Given the description of an element on the screen output the (x, y) to click on. 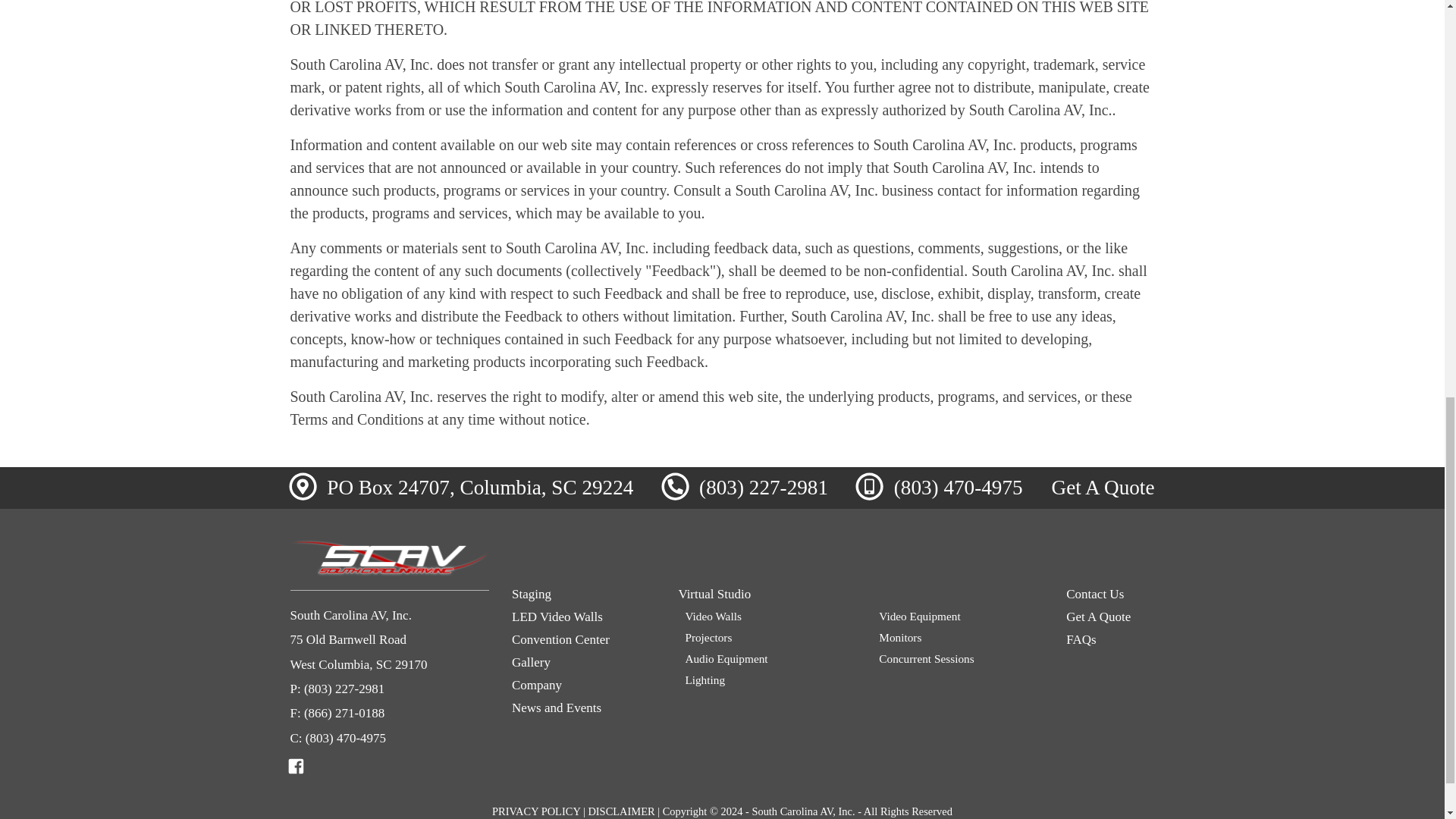
Get A Quote (1102, 486)
Projectors (766, 637)
Convention Center (583, 639)
LED Video Walls (583, 616)
Video Walls (766, 616)
Company (583, 685)
Virtual Studio (860, 594)
Staging (583, 594)
News and Events (583, 708)
Gallery (583, 662)
